Given the description of an element on the screen output the (x, y) to click on. 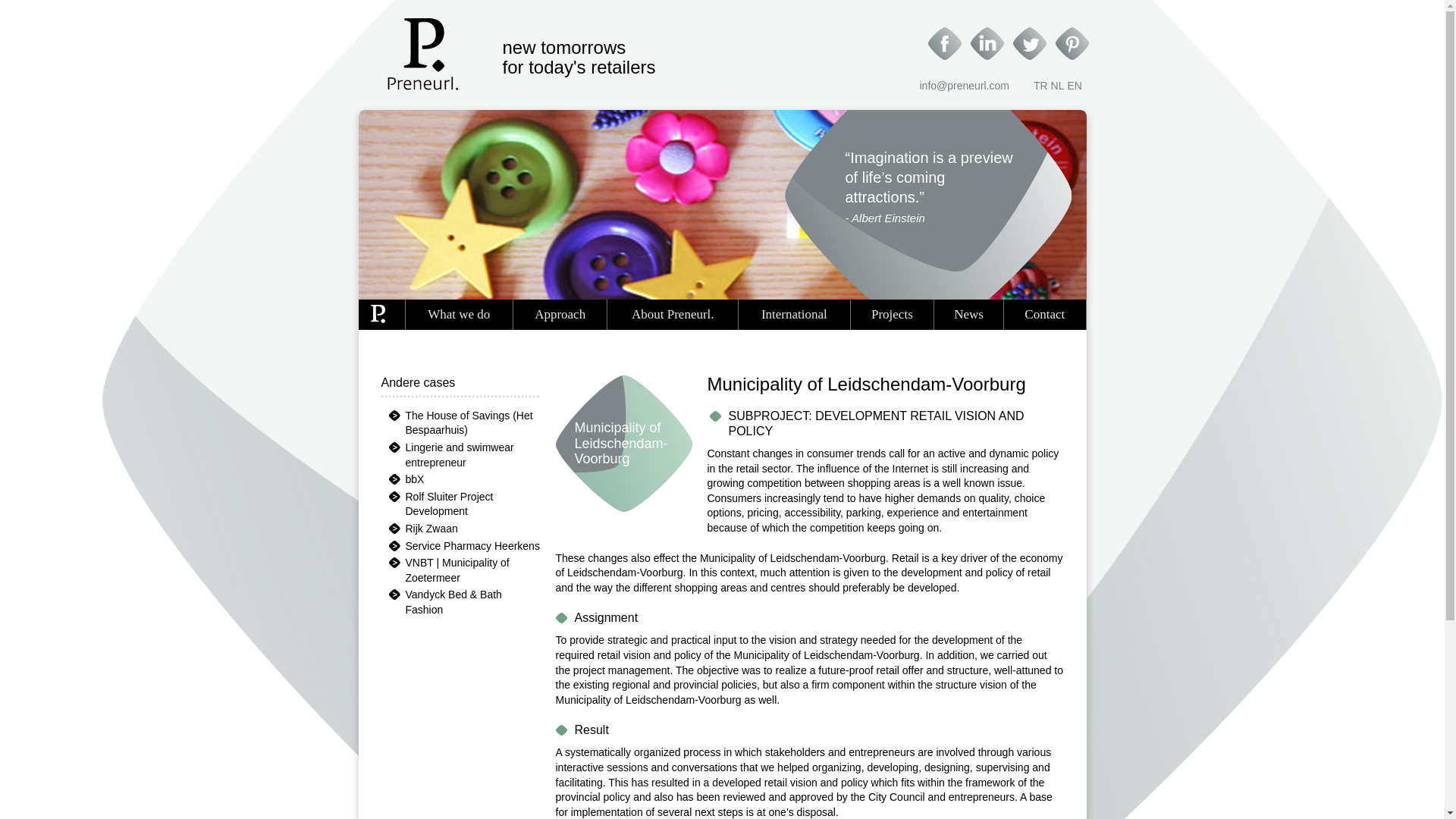
EN (1074, 85)
What we do (459, 314)
TR (1040, 85)
Approach (560, 314)
Projects (892, 314)
International (794, 314)
NL (1057, 85)
Home (377, 314)
News (968, 314)
About Preneurl. (672, 314)
